Given the description of an element on the screen output the (x, y) to click on. 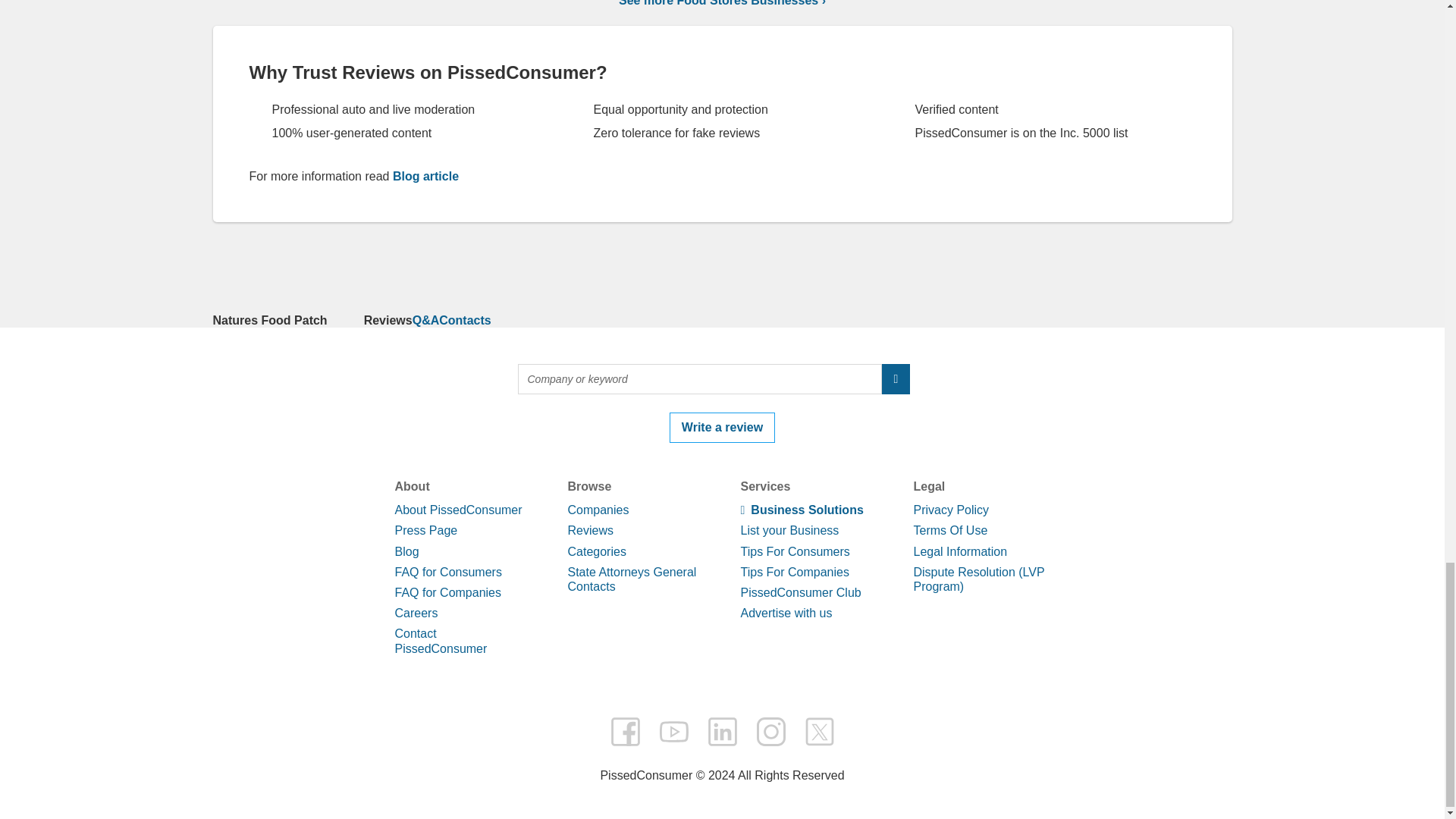
FAQ for Companies (447, 592)
Advertise with us (785, 612)
Natures Food Patch reviews (388, 319)
PissedConsumer Club (799, 592)
Press Page (425, 530)
About PissedConsumer (457, 509)
Careers (416, 612)
Tips For Companies (793, 571)
Write a review (721, 427)
Privacy Policy (950, 509)
